Given the description of an element on the screen output the (x, y) to click on. 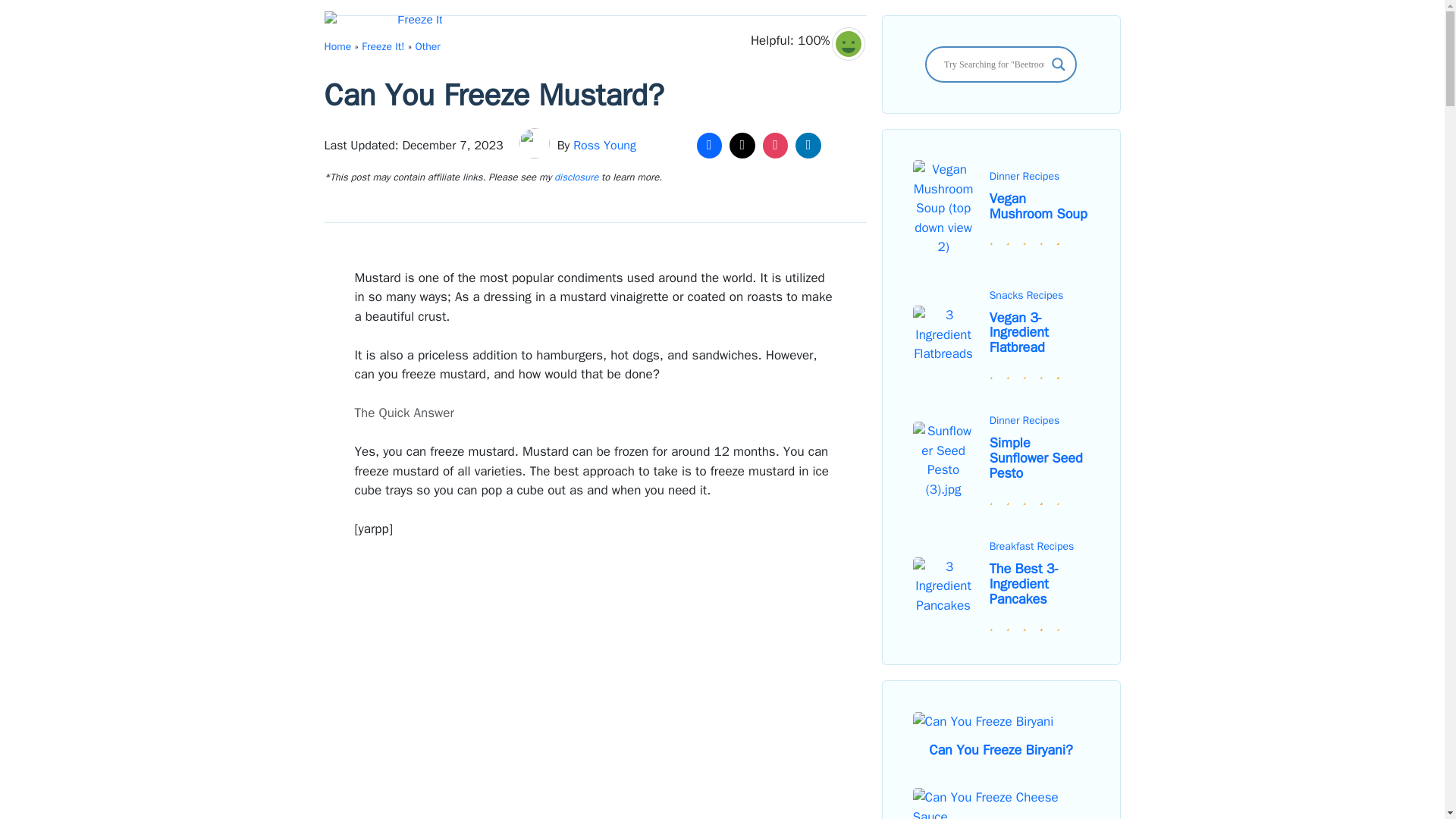
Other (427, 46)
Freeze It! (382, 46)
Freeze It (383, 26)
Instagram (775, 145)
Linkedin (808, 145)
Facebook (709, 145)
X (741, 145)
Home (338, 46)
Freeze It (386, 26)
